Given the description of an element on the screen output the (x, y) to click on. 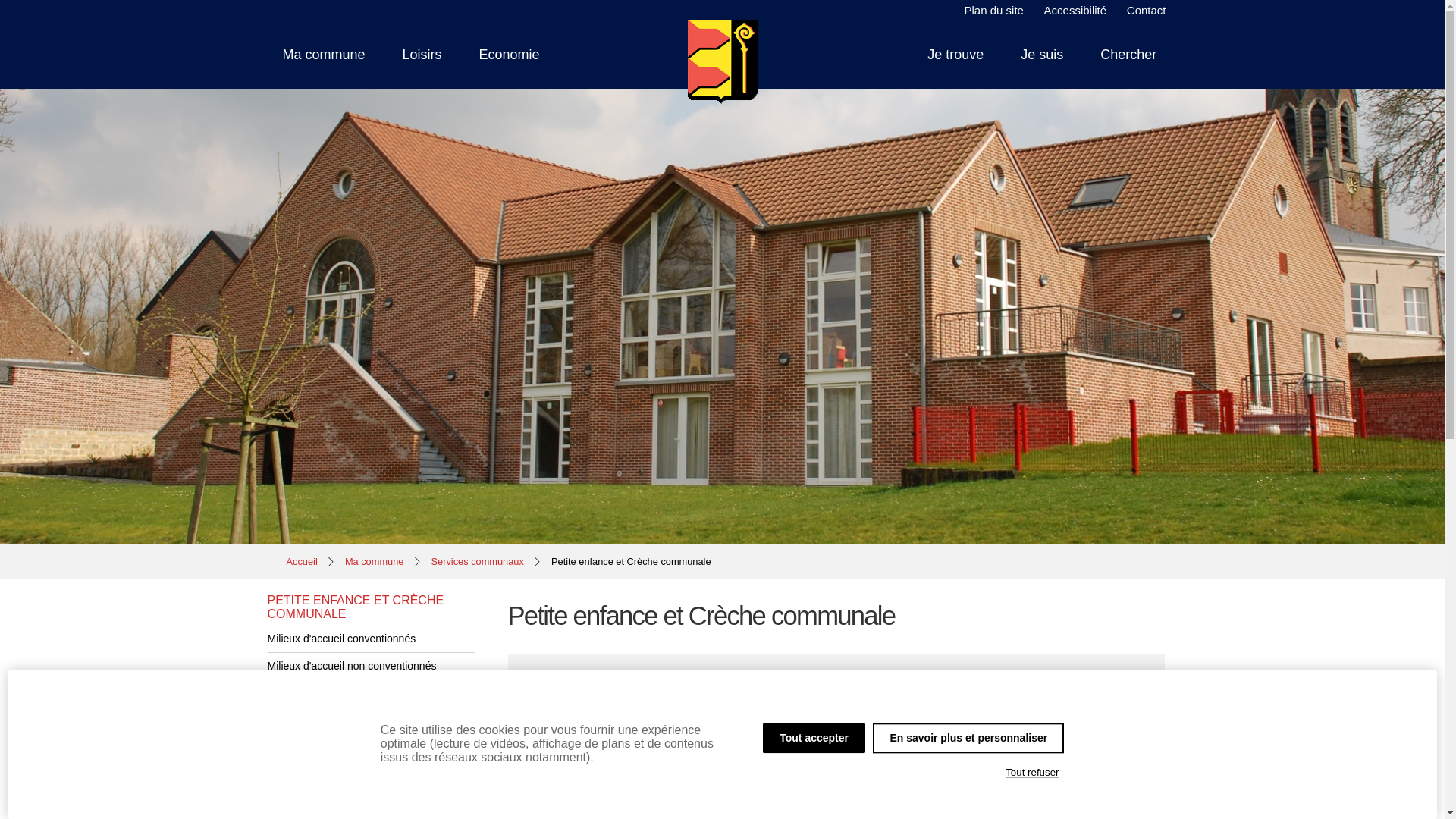
Beauvechain - La Commune Element type: hover (721, 61)
Ma commune Element type: text (322, 54)
Services communaux Element type: text (477, 561)
Plan du site Element type: text (993, 9)
Aller au contenu. Element type: text (1200, 38)
Accueil Element type: text (301, 561)
Loisirs Element type: text (422, 54)
creche@beauvechain.be Element type: text (577, 757)
Contact Element type: text (1146, 9)
Economie Element type: text (509, 54)
+32 (0) 10 86 83 50 Element type: text (677, 720)
Chercher Element type: text (1128, 54)
Ma commune Element type: text (374, 561)
En savoir plus et personnaliser Element type: text (967, 737)
Tout accepter Element type: text (813, 737)
Je trouve Element type: text (955, 54)
Je suis Element type: text (1041, 54)
Tout refuser Element type: text (1032, 772)
ONE Element type: text (369, 720)
Autres adresses utiles Element type: text (369, 748)
